Given the description of an element on the screen output the (x, y) to click on. 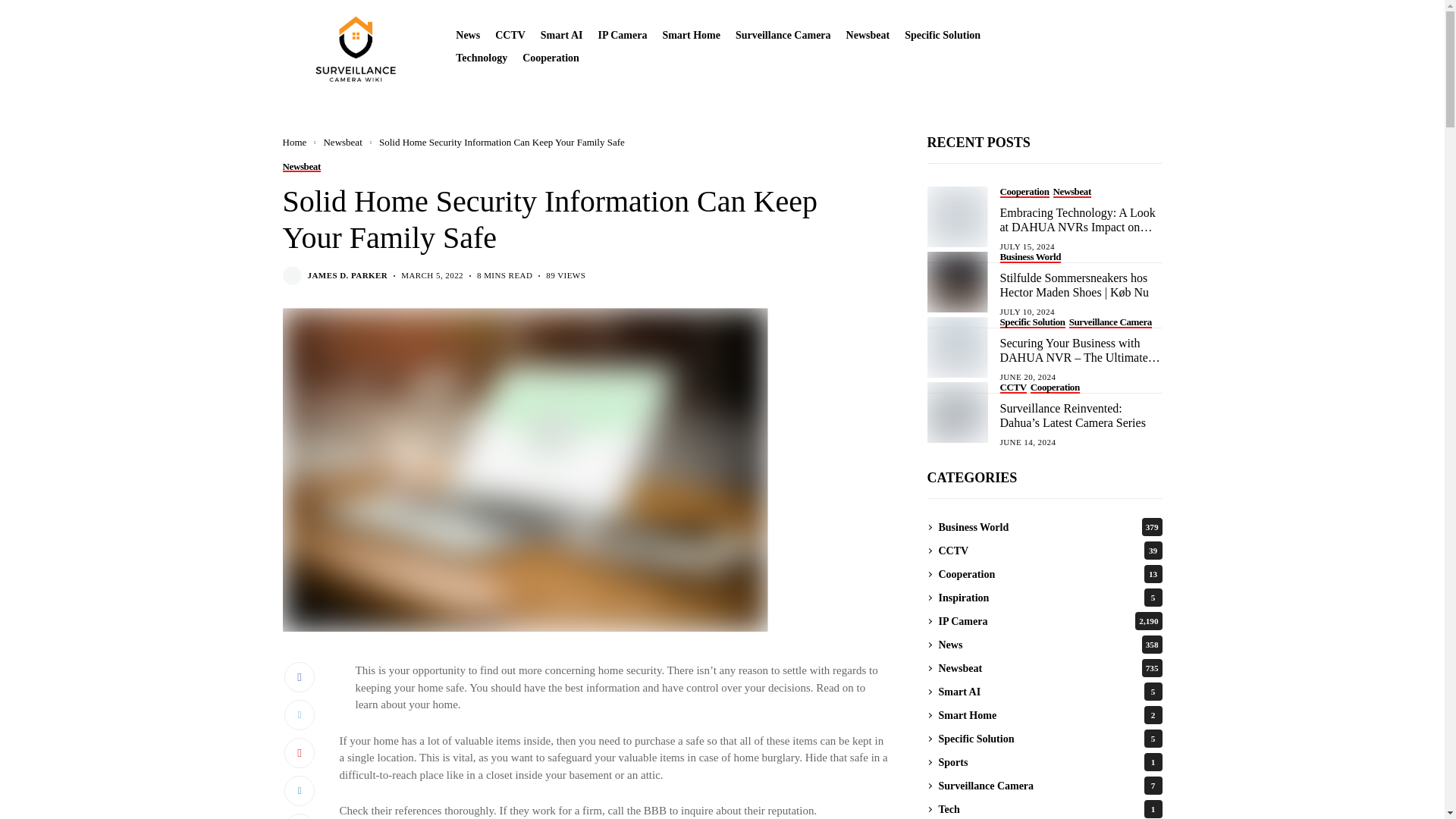
Specific Solution (941, 34)
IP Camera (621, 34)
Technology (480, 57)
CCTV (510, 34)
Cooperation (550, 57)
Newsbeat (867, 34)
News (467, 34)
Surveillance Camera (783, 34)
Smart Home (691, 34)
Smart AI (561, 34)
Posts by James D. Parker (347, 275)
